Given the description of an element on the screen output the (x, y) to click on. 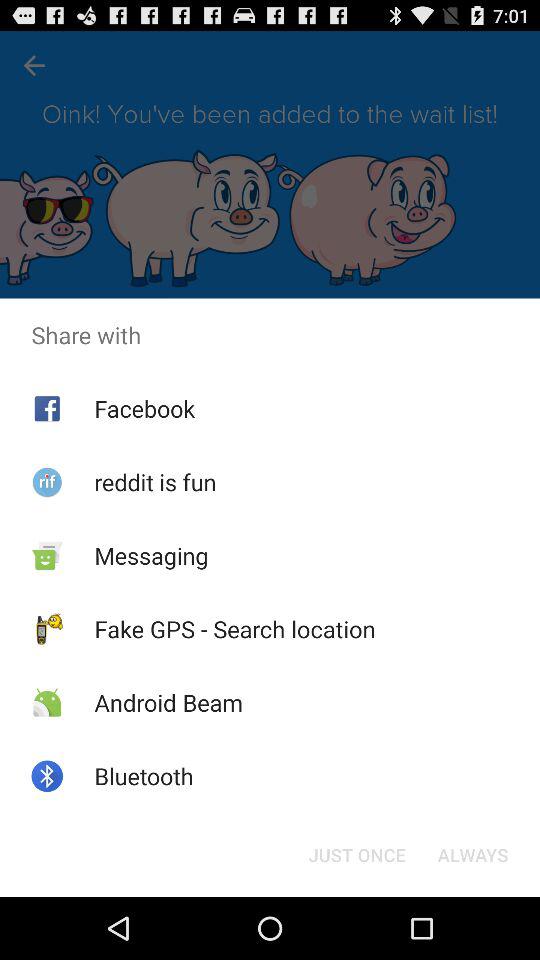
click item below the share with app (472, 854)
